Given the description of an element on the screen output the (x, y) to click on. 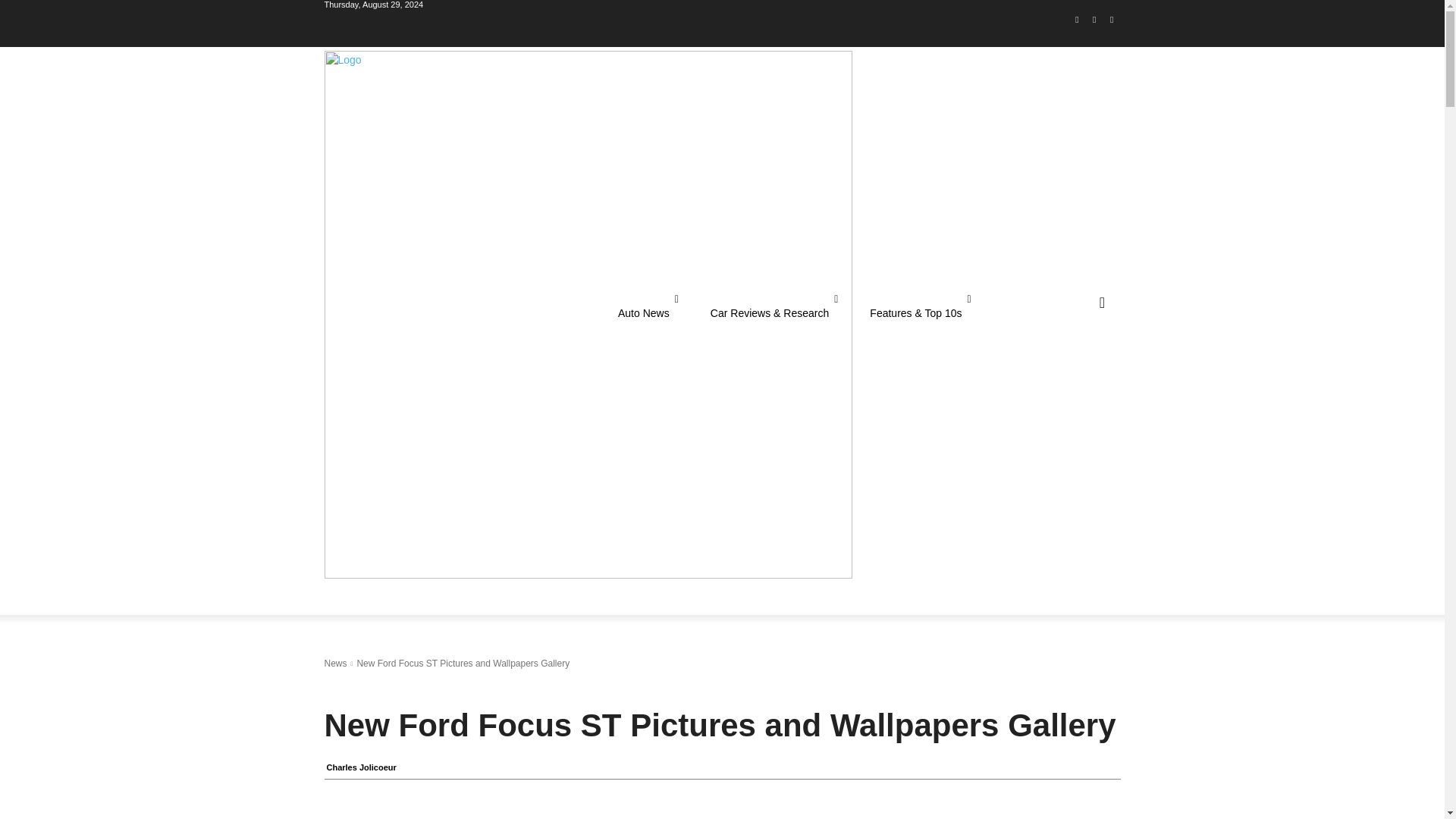
Instagram (1094, 23)
Youtube (1112, 23)
Auto News (648, 312)
View all posts in News (335, 663)
Facebook (1077, 23)
